Given the description of an element on the screen output the (x, y) to click on. 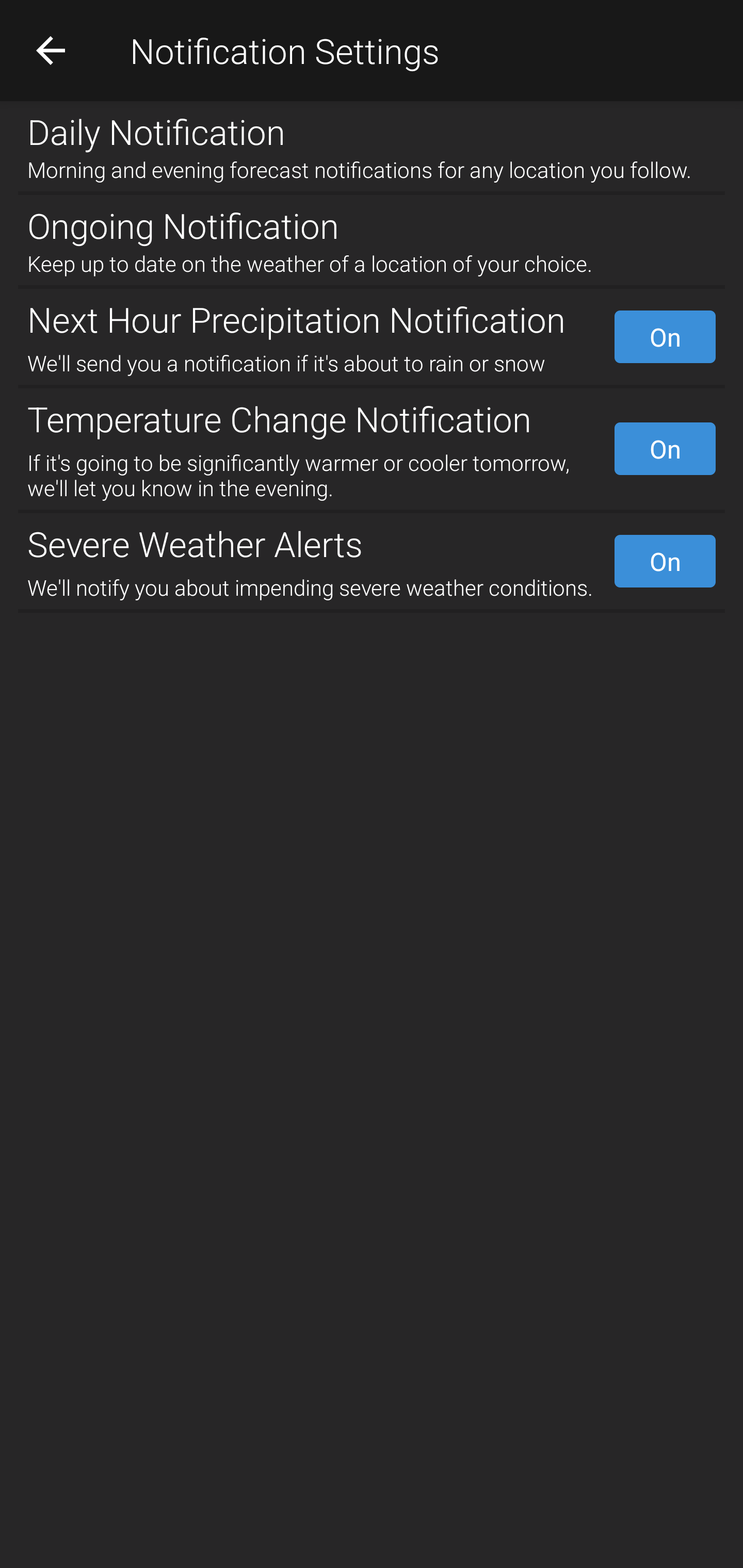
Navigate up (50, 50)
Daily Notification (371, 127)
Ongoing Notification (371, 221)
On (664, 336)
On (664, 448)
On (664, 561)
